Given the description of an element on the screen output the (x, y) to click on. 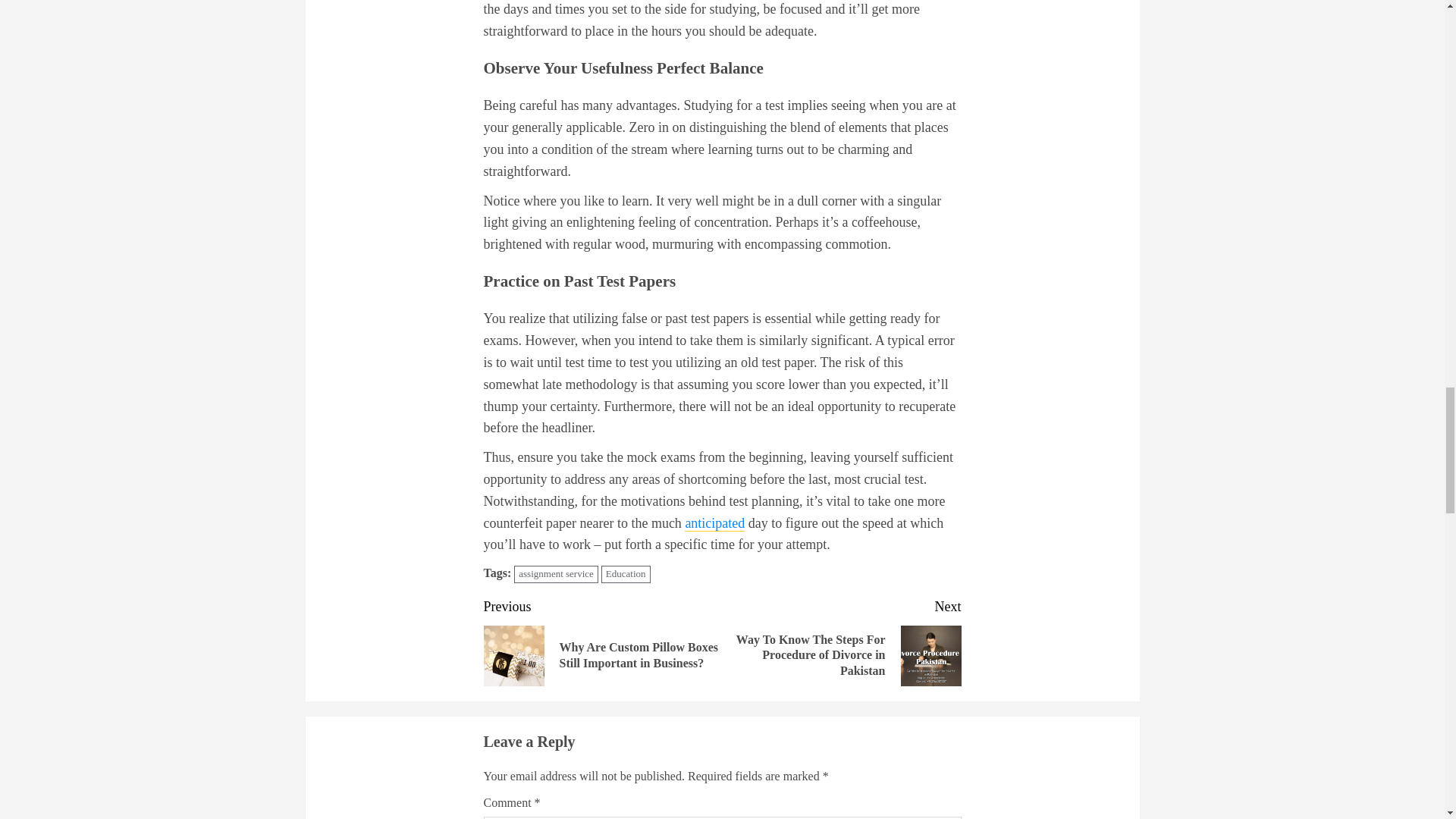
Education (625, 574)
anticipated (714, 523)
assignment service (555, 574)
